Given the description of an element on the screen output the (x, y) to click on. 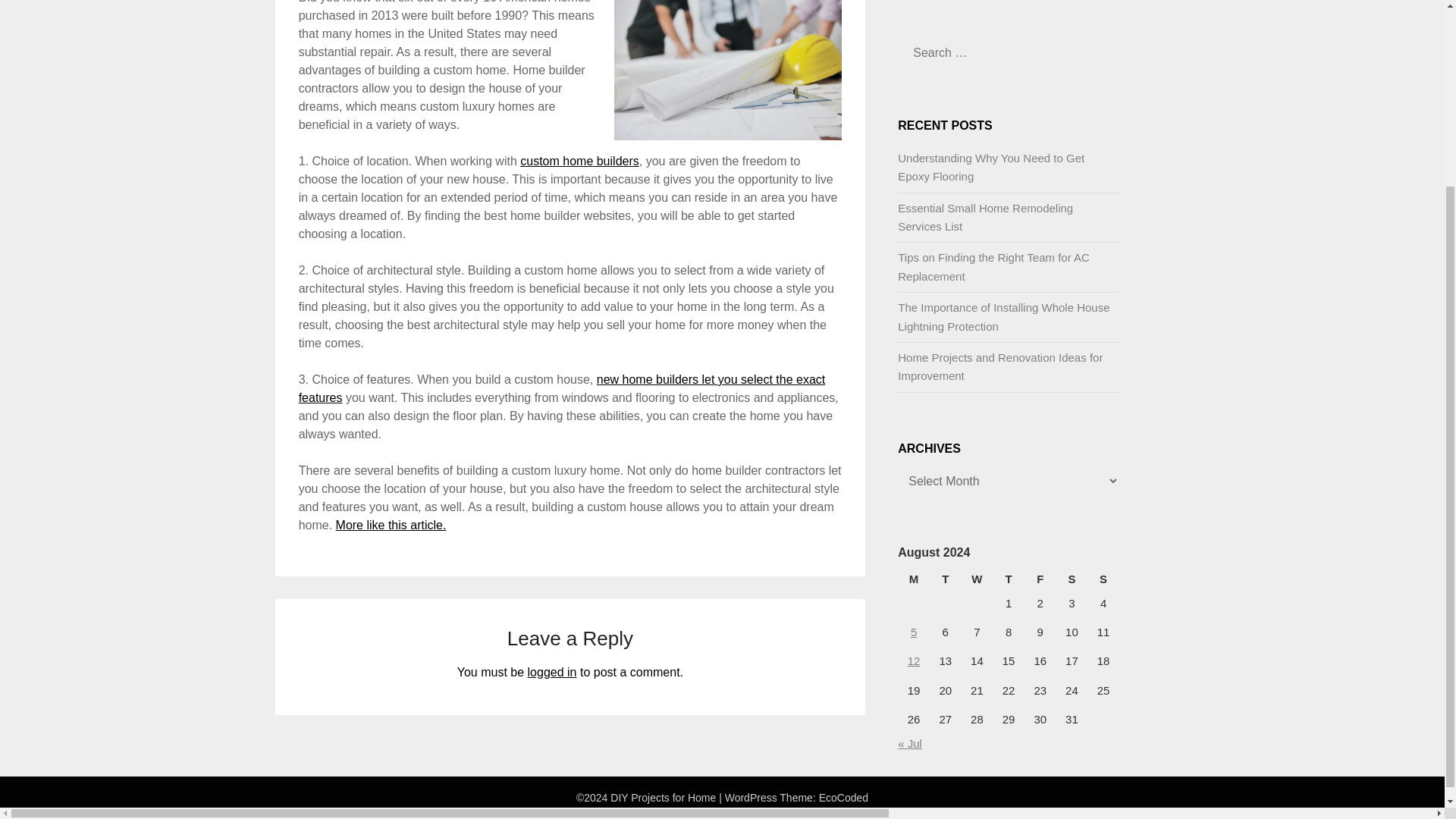
Tuesday (945, 579)
logged in (551, 671)
Saturday (1072, 579)
Thursday (1008, 579)
Check this out (579, 160)
Essential Small Home Remodeling Services List (985, 216)
Home builder reviews, Luxury custom home (391, 524)
EcoCoded (842, 797)
Understanding Why You Need to Get Epoxy Flooring (991, 166)
